Given the description of an element on the screen output the (x, y) to click on. 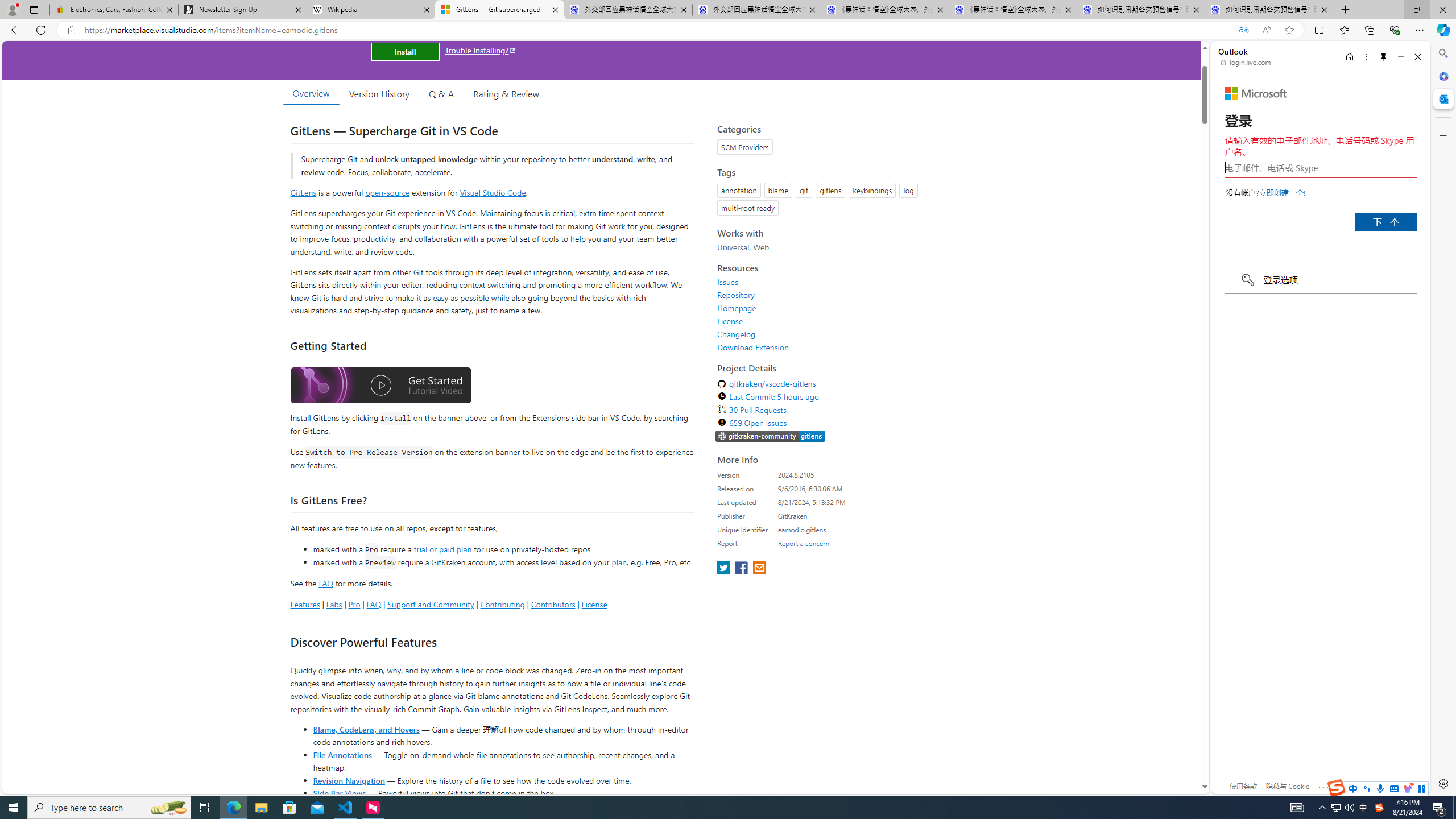
License (820, 320)
GitLens (303, 192)
Visual Studio Code (492, 192)
Homepage (737, 307)
Repository (735, 294)
Blame, CodeLens, and Hovers (366, 728)
Features (304, 603)
